Given the description of an element on the screen output the (x, y) to click on. 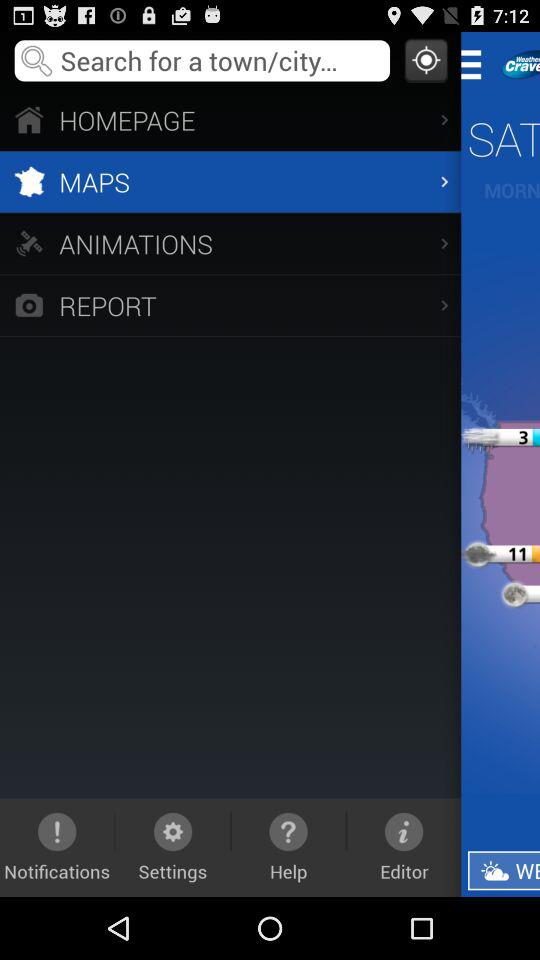
press the app above the saturday 10 app (477, 63)
